Given the description of an element on the screen output the (x, y) to click on. 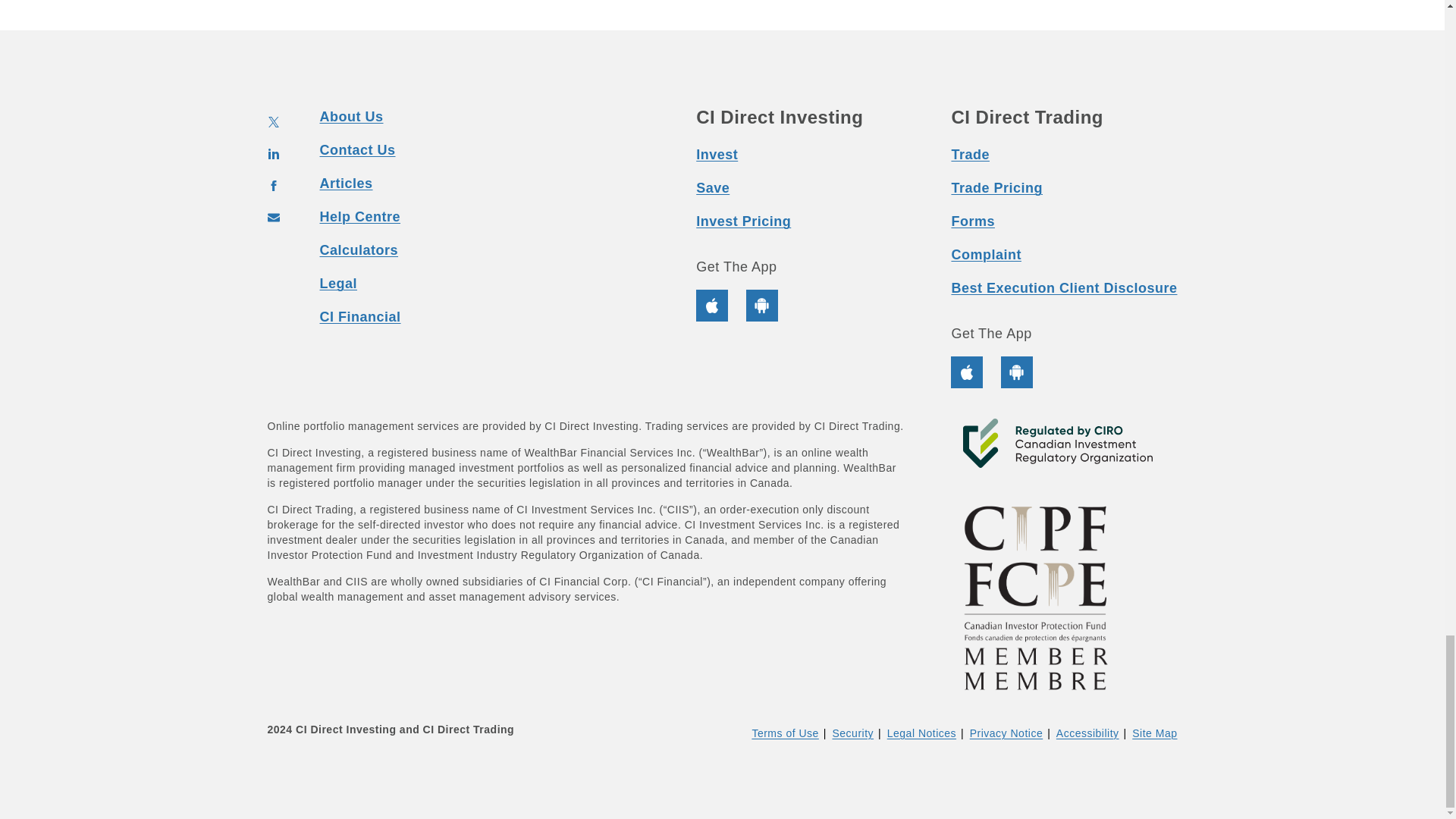
Save (712, 187)
Invest (716, 154)
Trade (970, 154)
mailto:Email (273, 217)
Help Centre (360, 216)
Articles (346, 183)
Apple (720, 305)
LinkedIn (273, 153)
Calculators (359, 249)
CI Financial (360, 316)
Twitter (273, 122)
Contact Us (358, 150)
About Us (352, 116)
Android (761, 305)
Invest Pricing (742, 221)
